Given the description of an element on the screen output the (x, y) to click on. 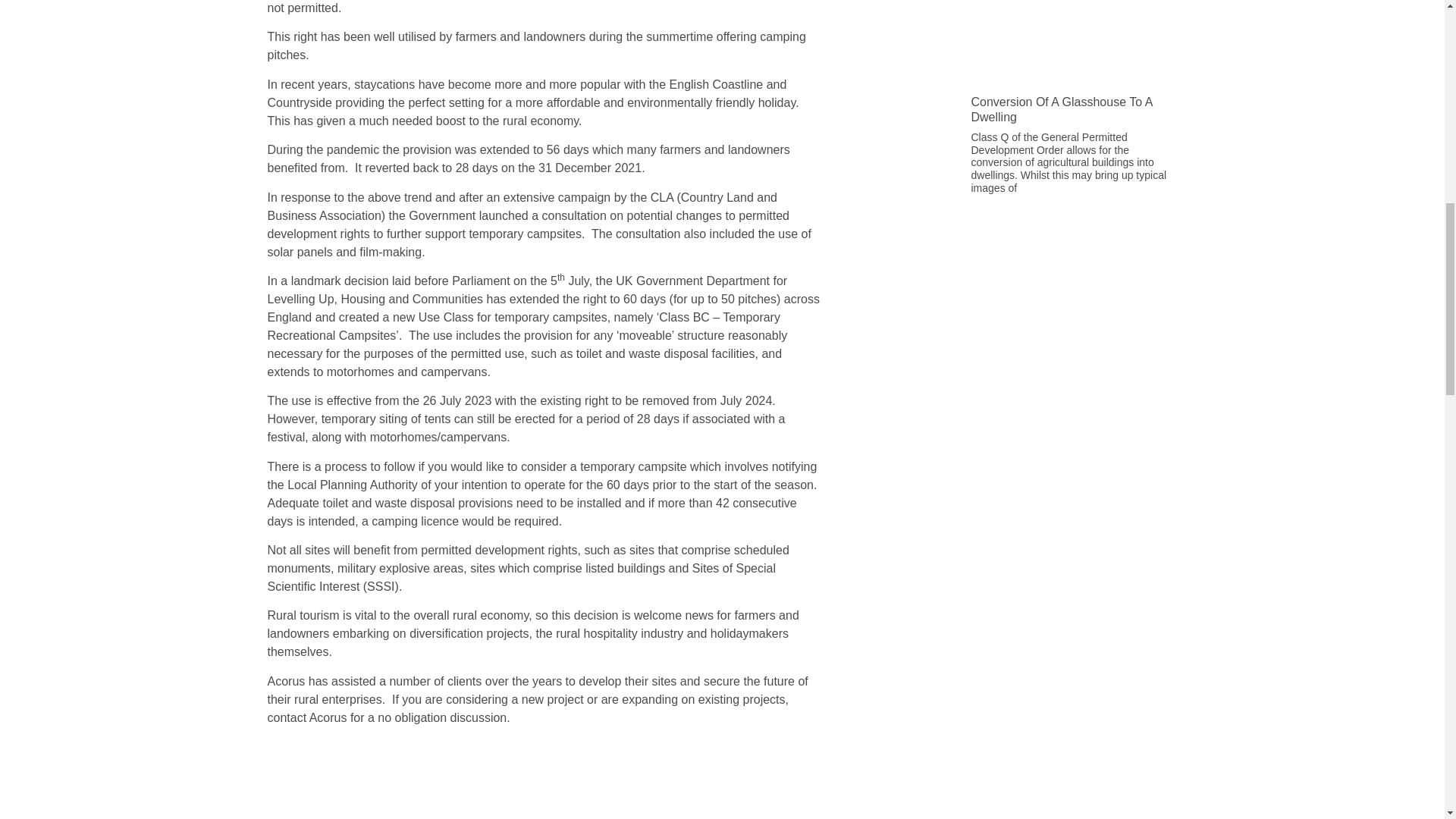
Conversion Of A Glasshouse To A Dwelling (1061, 108)
